Given the description of an element on the screen output the (x, y) to click on. 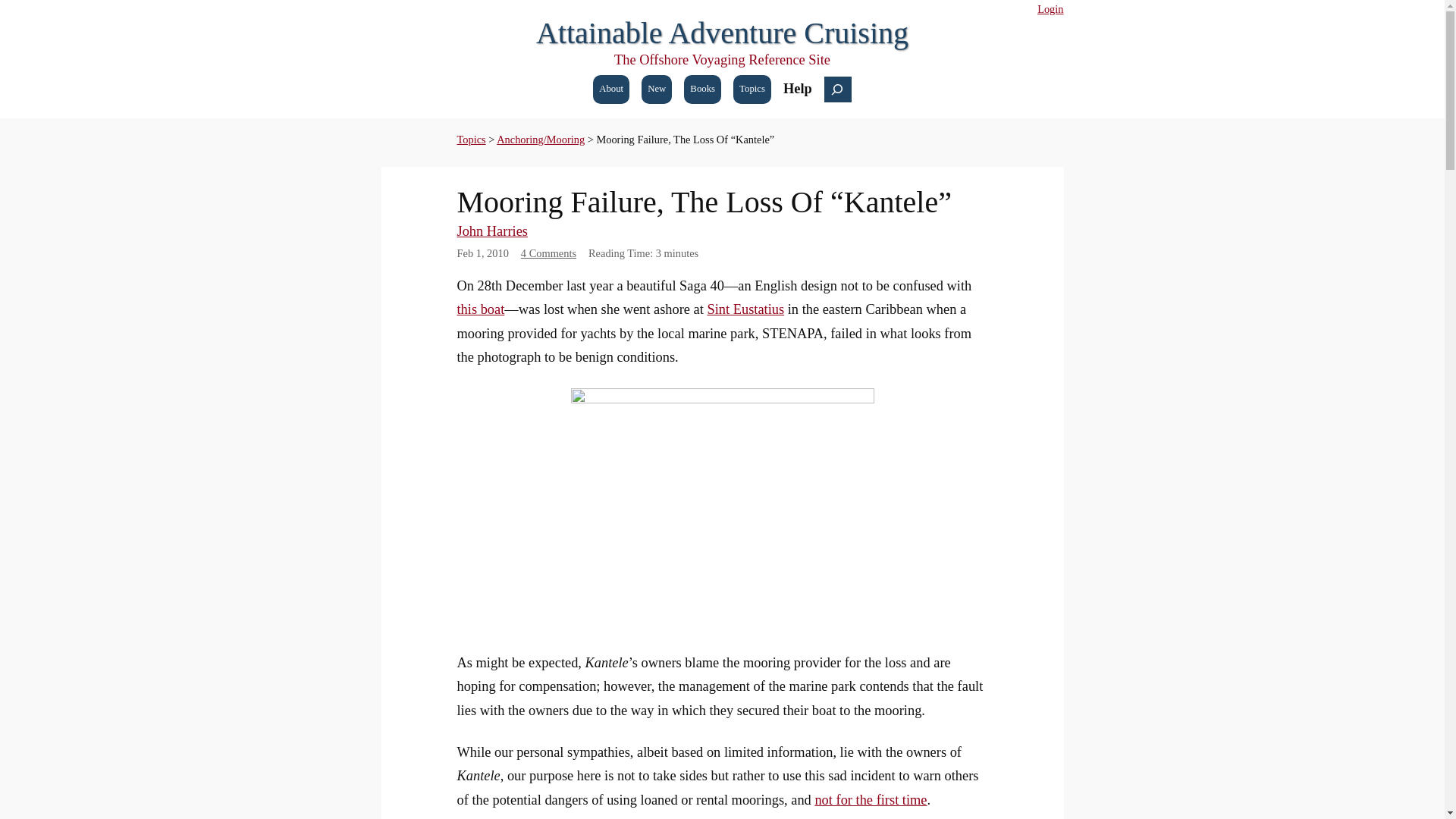
Topics (470, 139)
Help (797, 88)
Topics (470, 139)
Sint Eustatius (745, 309)
this boat (480, 309)
Topics (752, 89)
John Harries (492, 231)
Login (1049, 9)
About (610, 89)
